Given the description of an element on the screen output the (x, y) to click on. 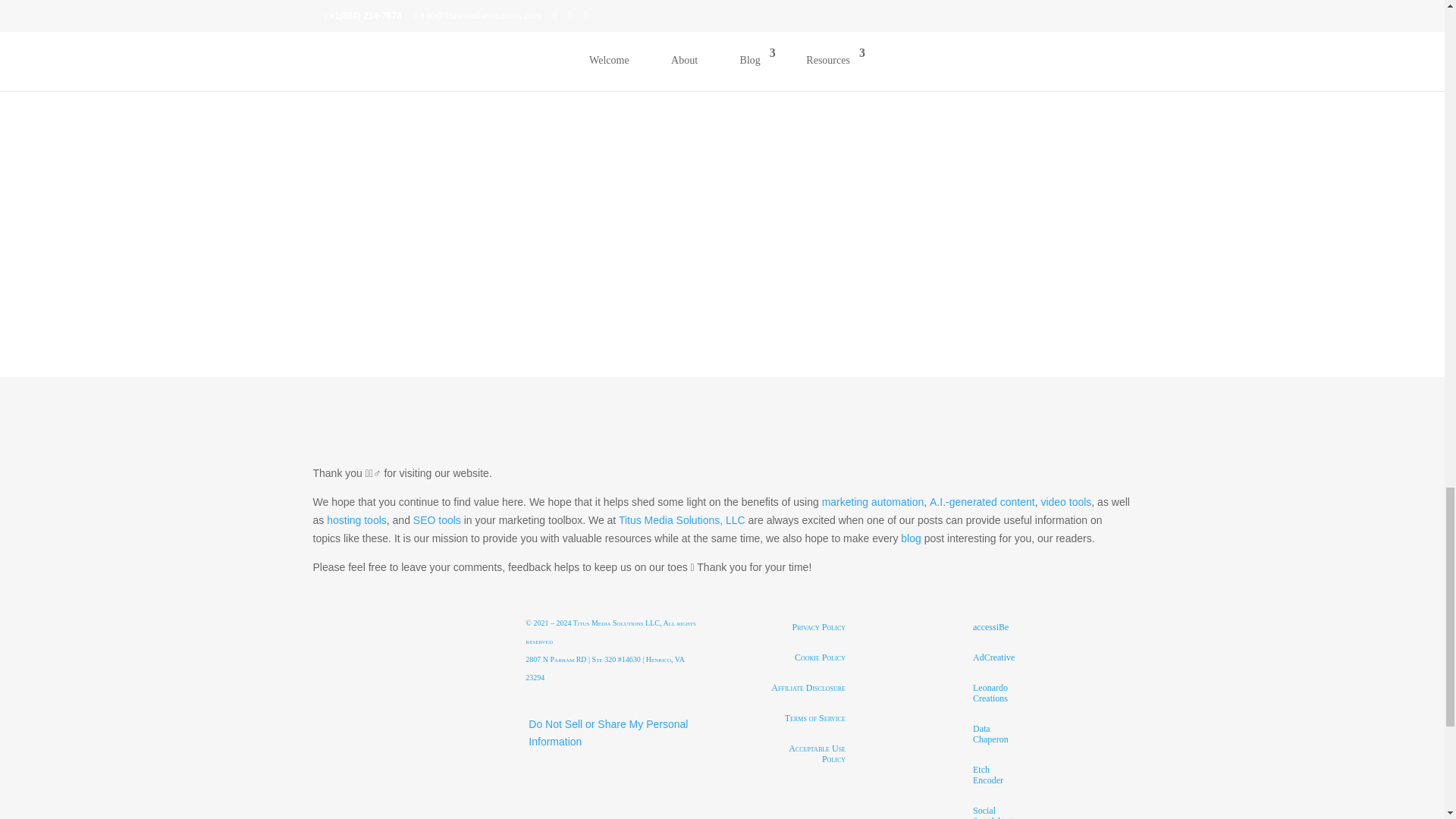
AdCreative (993, 656)
accessiBe.com (990, 626)
SEO tools (437, 520)
marketing automation (873, 501)
hosting tools (356, 520)
Terms of Service (815, 717)
accessiBe (990, 626)
Privacy Policy (818, 626)
Do Not Sell or Share My Personal Information (607, 732)
Leonardo Creations (993, 692)
